Given the description of an element on the screen output the (x, y) to click on. 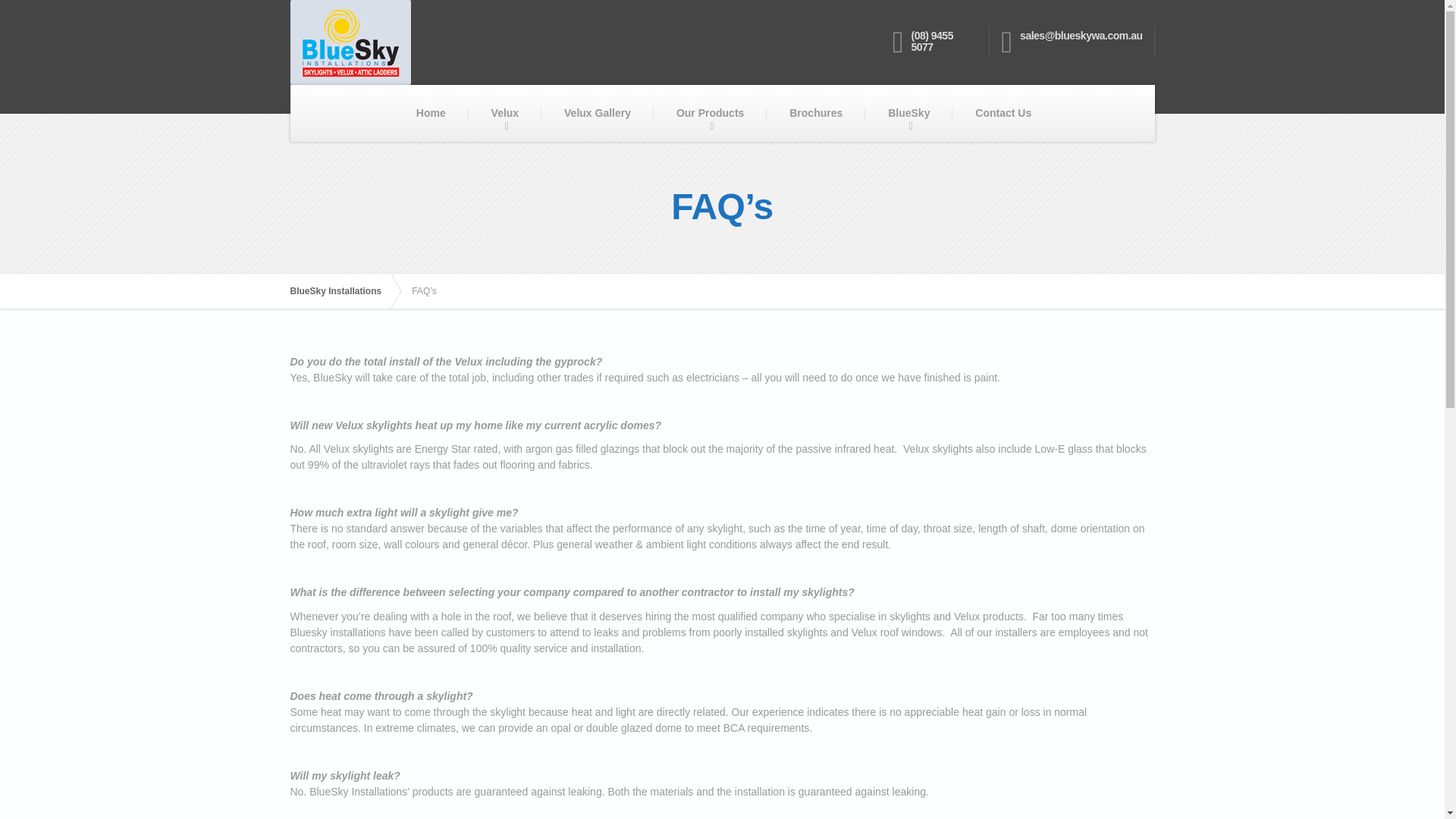
Brochures (815, 113)
BlueSky Installations (342, 290)
Our Products (710, 113)
BlueSky (908, 113)
Home (430, 113)
Velux (504, 113)
Contact Us (1003, 113)
Go to BlueSky Installations. (342, 290)
Velux Gallery (597, 113)
